Given the description of an element on the screen output the (x, y) to click on. 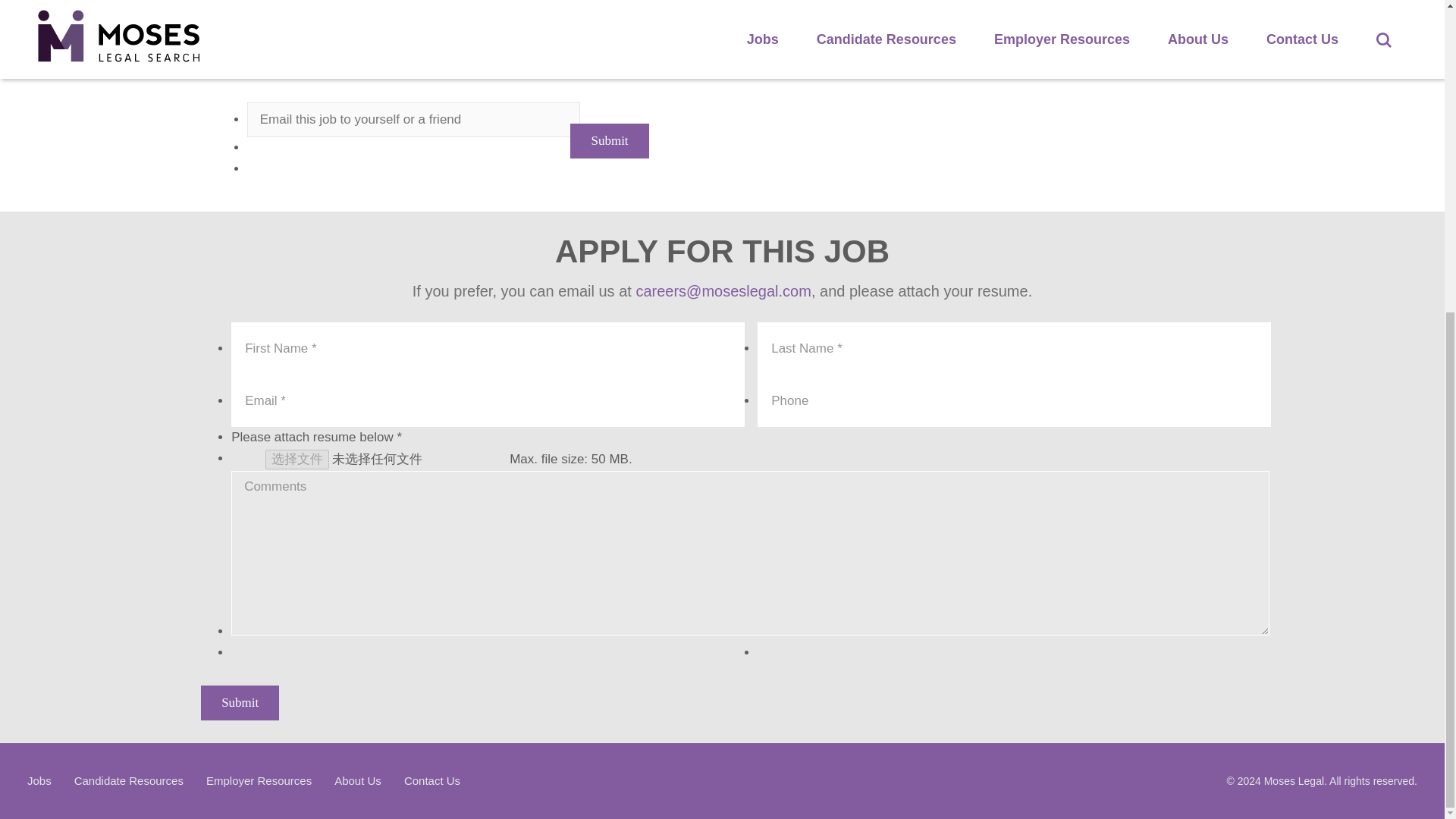
Jobs (38, 780)
Candidate Resources (128, 780)
Submit (239, 702)
Employer Resources (258, 780)
Submit (608, 140)
About Us (357, 780)
Contact Us (432, 780)
